Given the description of an element on the screen output the (x, y) to click on. 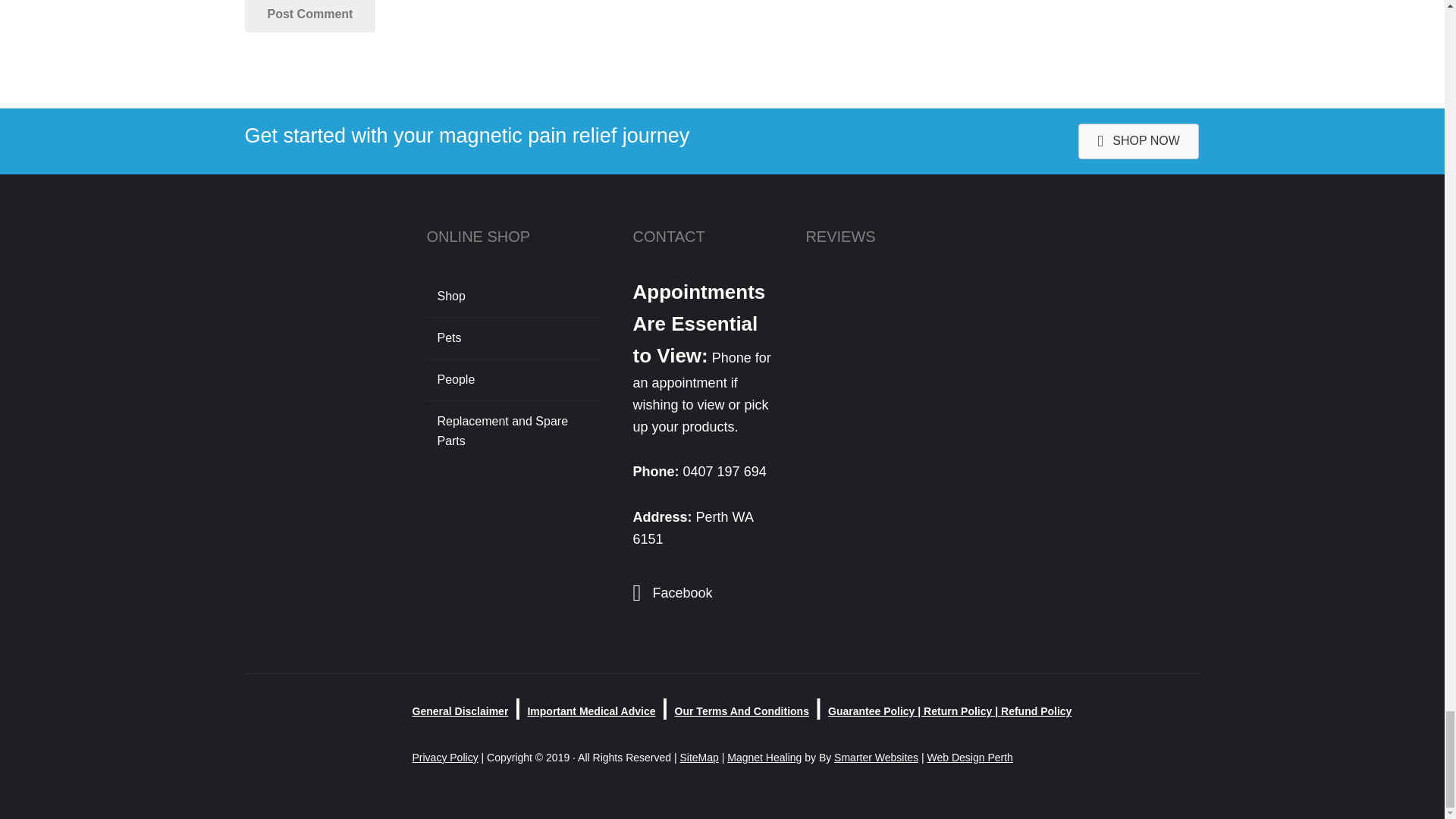
Pets (514, 337)
People (514, 379)
Replacement and Spare Parts (514, 431)
bioflow2 (320, 303)
SHOP NOW (1138, 140)
Shop (514, 296)
paypal-logo-small-300x136 (312, 720)
Post Comment (309, 16)
Post Comment (309, 16)
